Given the description of an element on the screen output the (x, y) to click on. 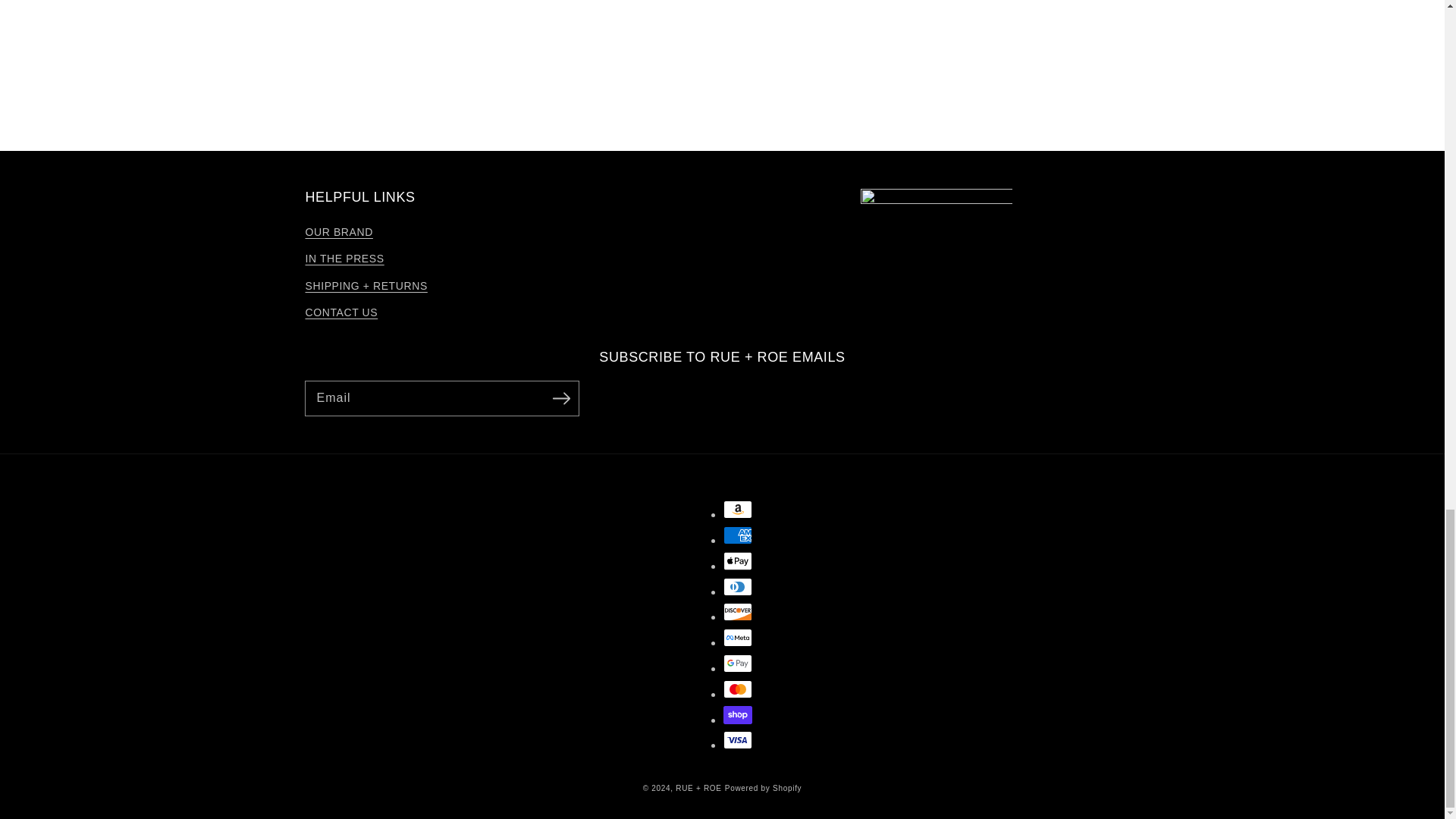
Google Pay (737, 663)
American Express (737, 535)
Meta Pay (737, 637)
Discover (737, 611)
Diners Club (737, 587)
Apple Pay (737, 561)
Amazon (737, 509)
